Given the description of an element on the screen output the (x, y) to click on. 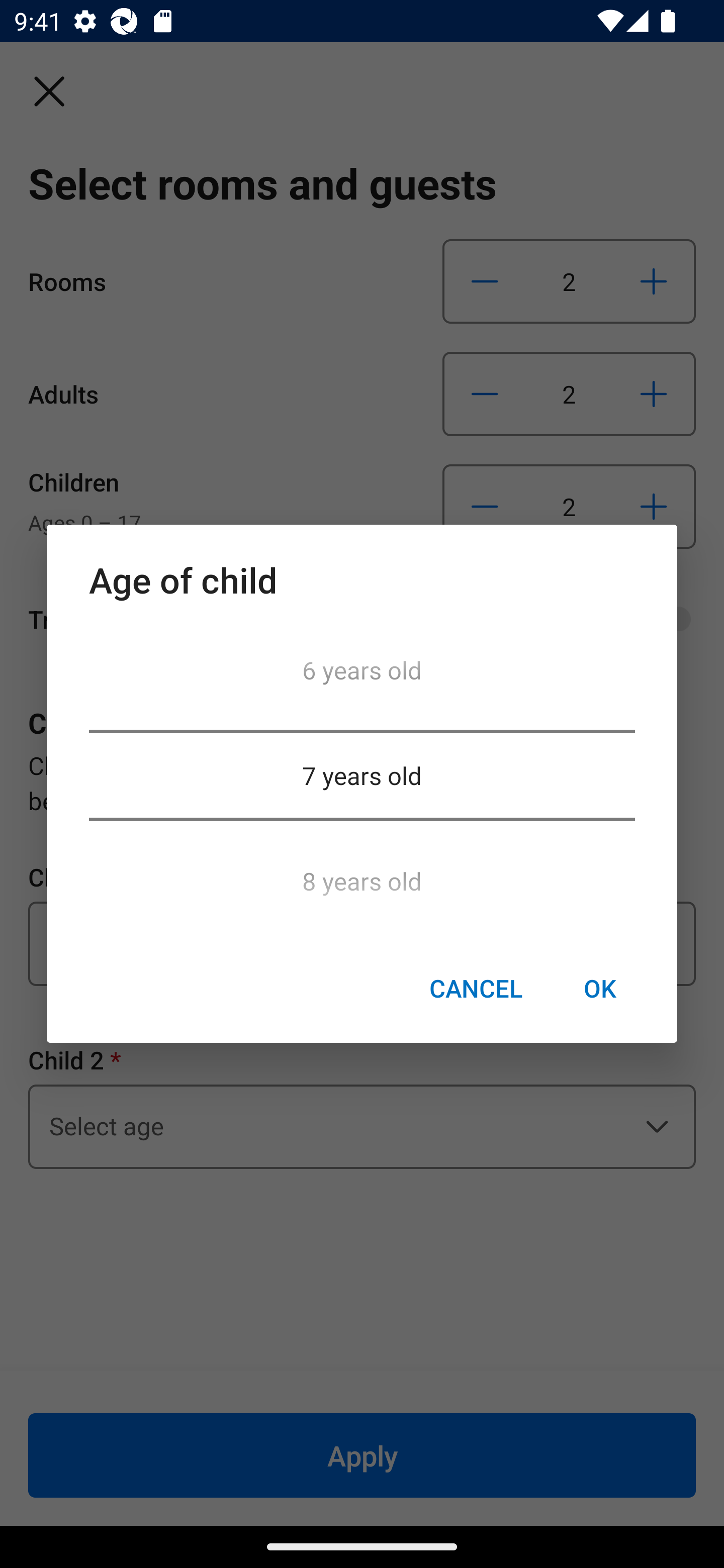
6 years old (361, 675)
7 years old (361, 774)
8 years old (361, 875)
CANCEL (475, 988)
OK (599, 988)
